Given the description of an element on the screen output the (x, y) to click on. 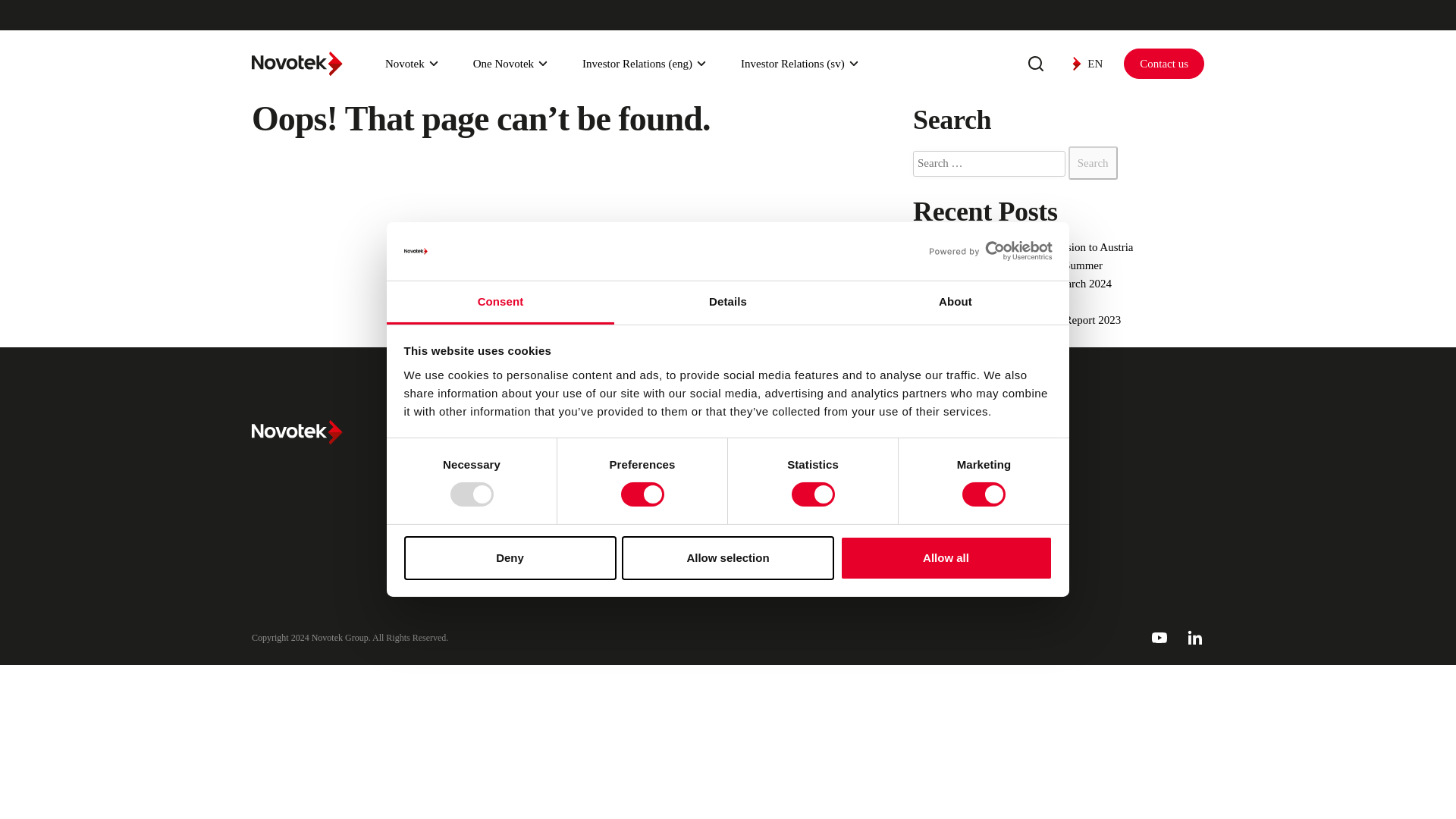
Deny (509, 557)
Consent (500, 302)
Allow all (946, 557)
Allow selection (727, 557)
Search (1093, 162)
Details (727, 302)
About (954, 302)
Search (1093, 162)
